Given the description of an element on the screen output the (x, y) to click on. 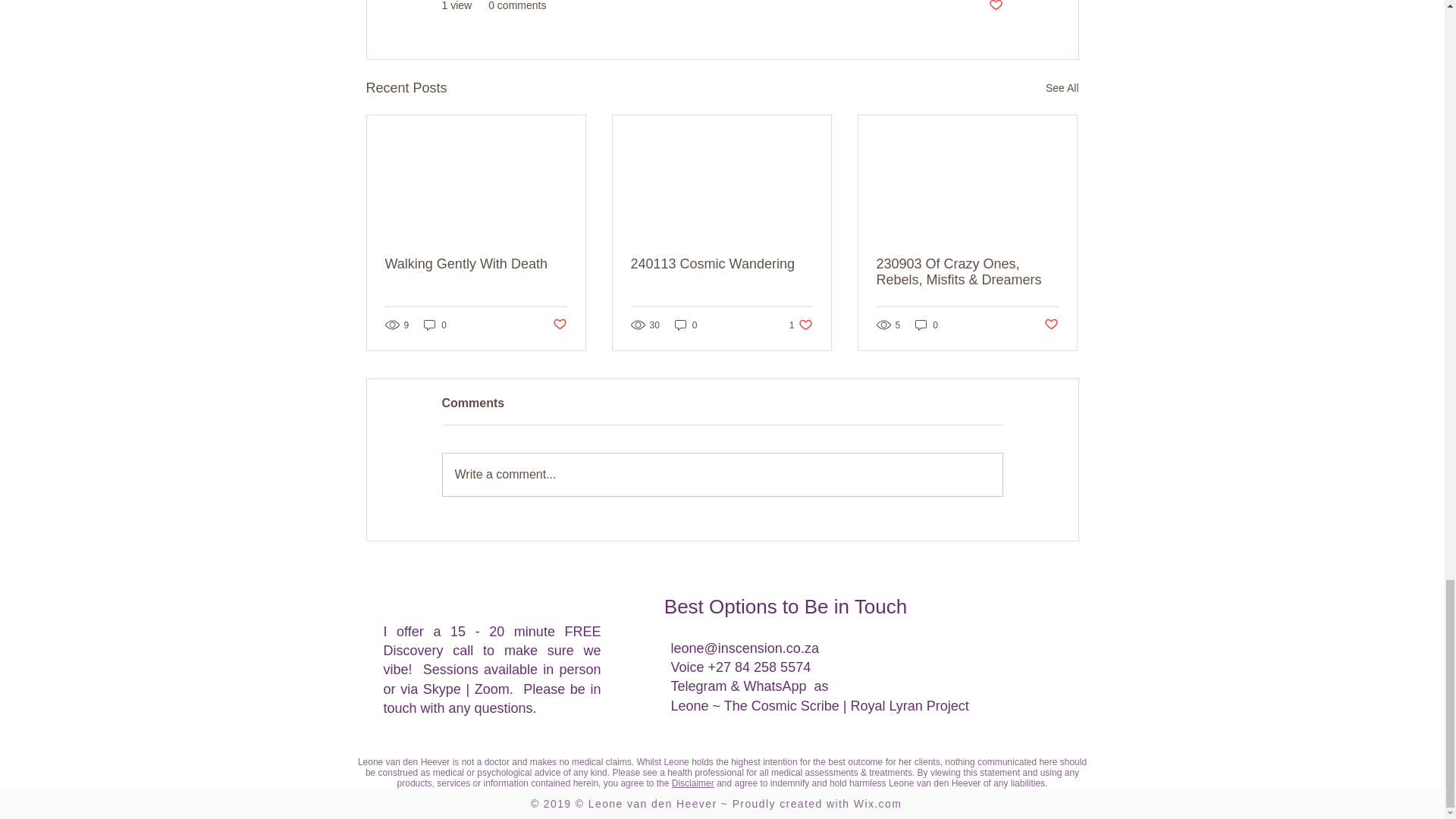
See All (1061, 87)
Post not marked as liked (995, 6)
